Given the description of an element on the screen output the (x, y) to click on. 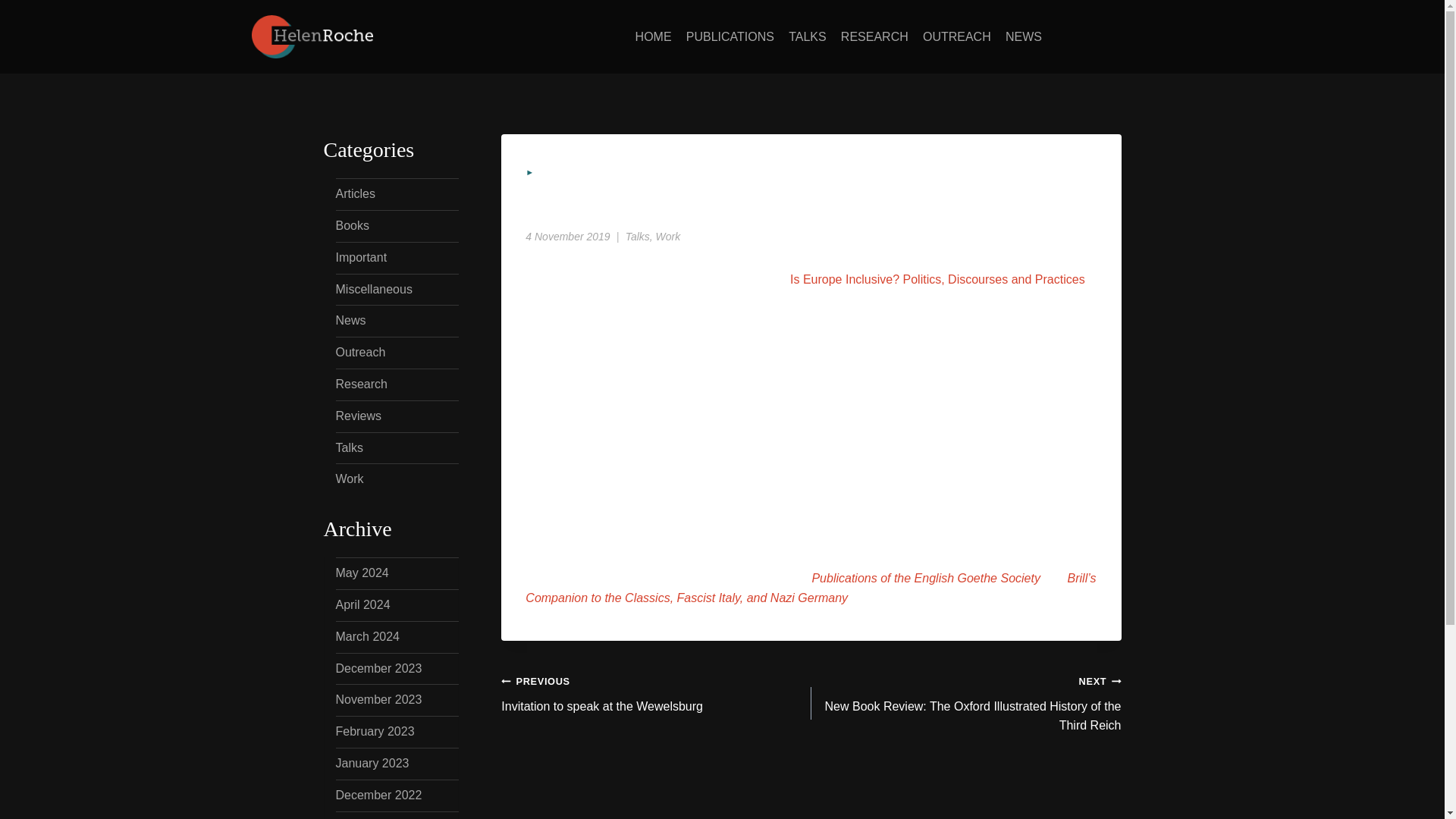
Work (348, 478)
Miscellaneous (373, 288)
Is Europe Inclusive? Politics, Discourses and Practices (937, 278)
April 2024 (362, 604)
HOME (652, 36)
Talks (637, 236)
Outreach (359, 351)
January 2023 (371, 762)
Publications of the English Goethe Society (925, 577)
PUBLICATIONS (729, 36)
Talks (348, 447)
Reviews (357, 415)
OUTREACH (956, 36)
May 2024 (361, 572)
